Given the description of an element on the screen output the (x, y) to click on. 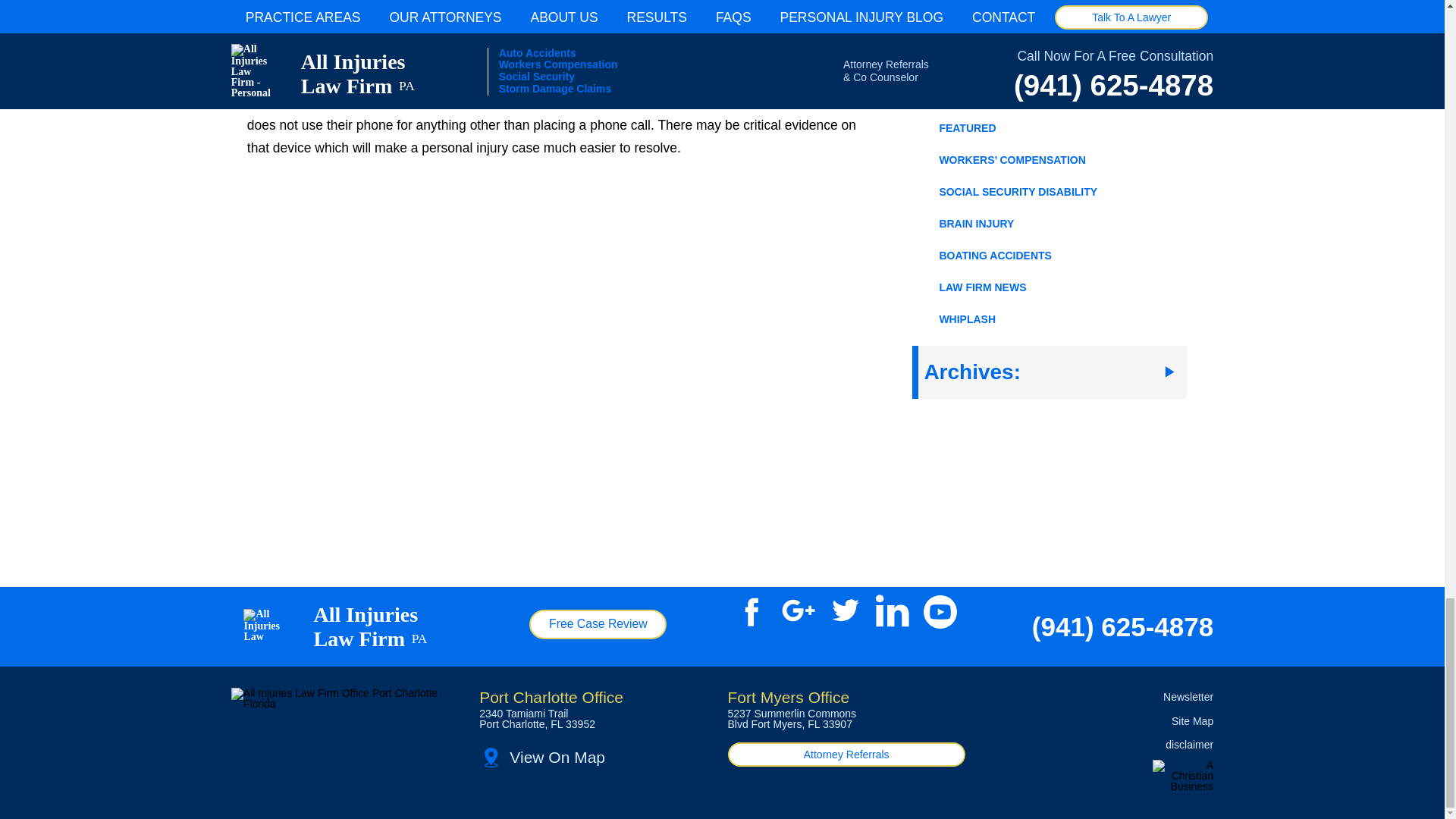
Follow All Injuries Law Firm On Twitter (845, 611)
Legal Videos On Youtube From All Injuries Law Firm (940, 611)
Follow All Injuries Law Firm On Linked In (892, 611)
